Given the description of an element on the screen output the (x, y) to click on. 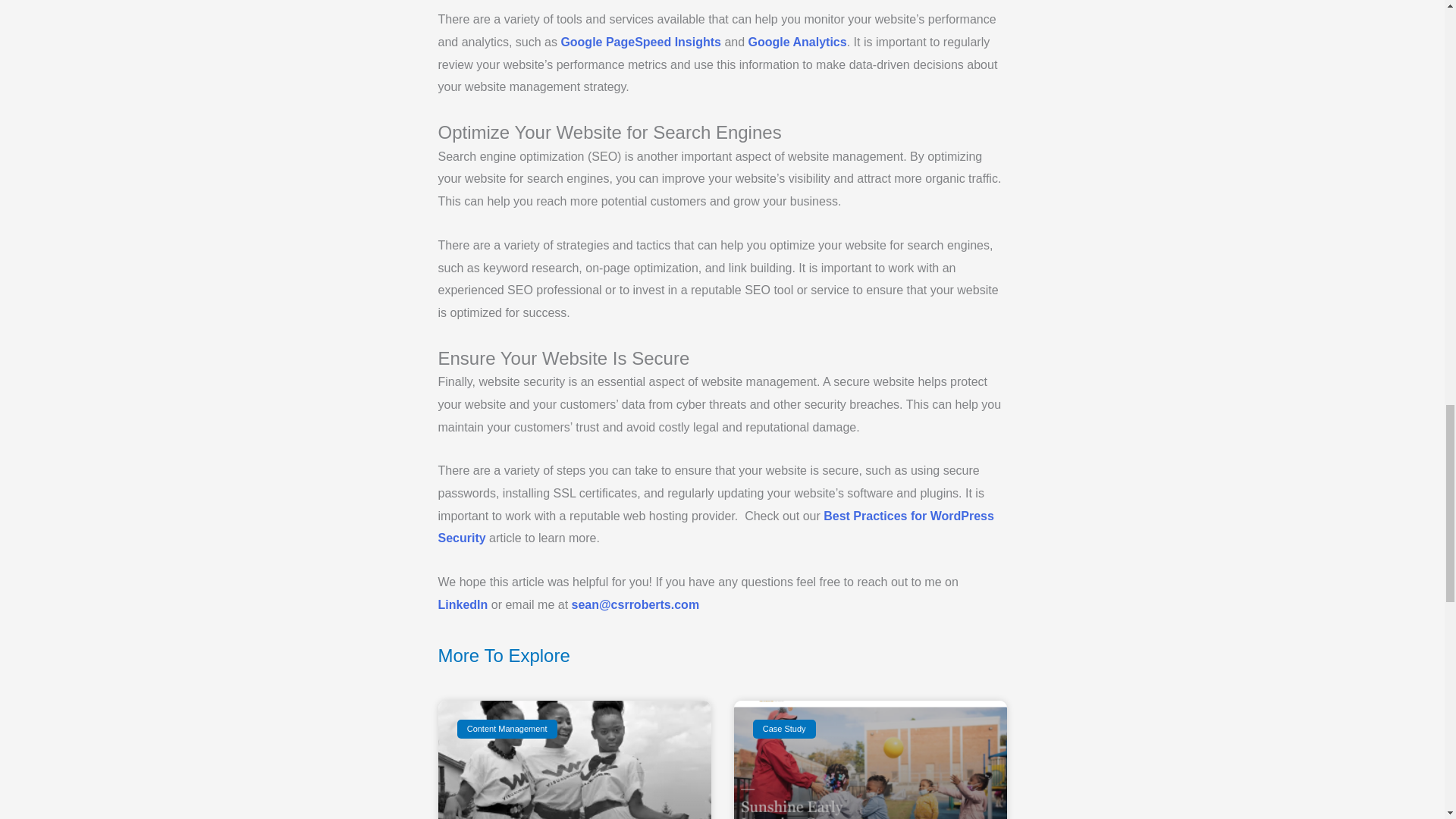
Google PageSpeed Insights (640, 42)
Google Analytics (797, 42)
LinkedIn (462, 604)
Best Practices for WordPress Security (716, 527)
